Given the description of an element on the screen output the (x, y) to click on. 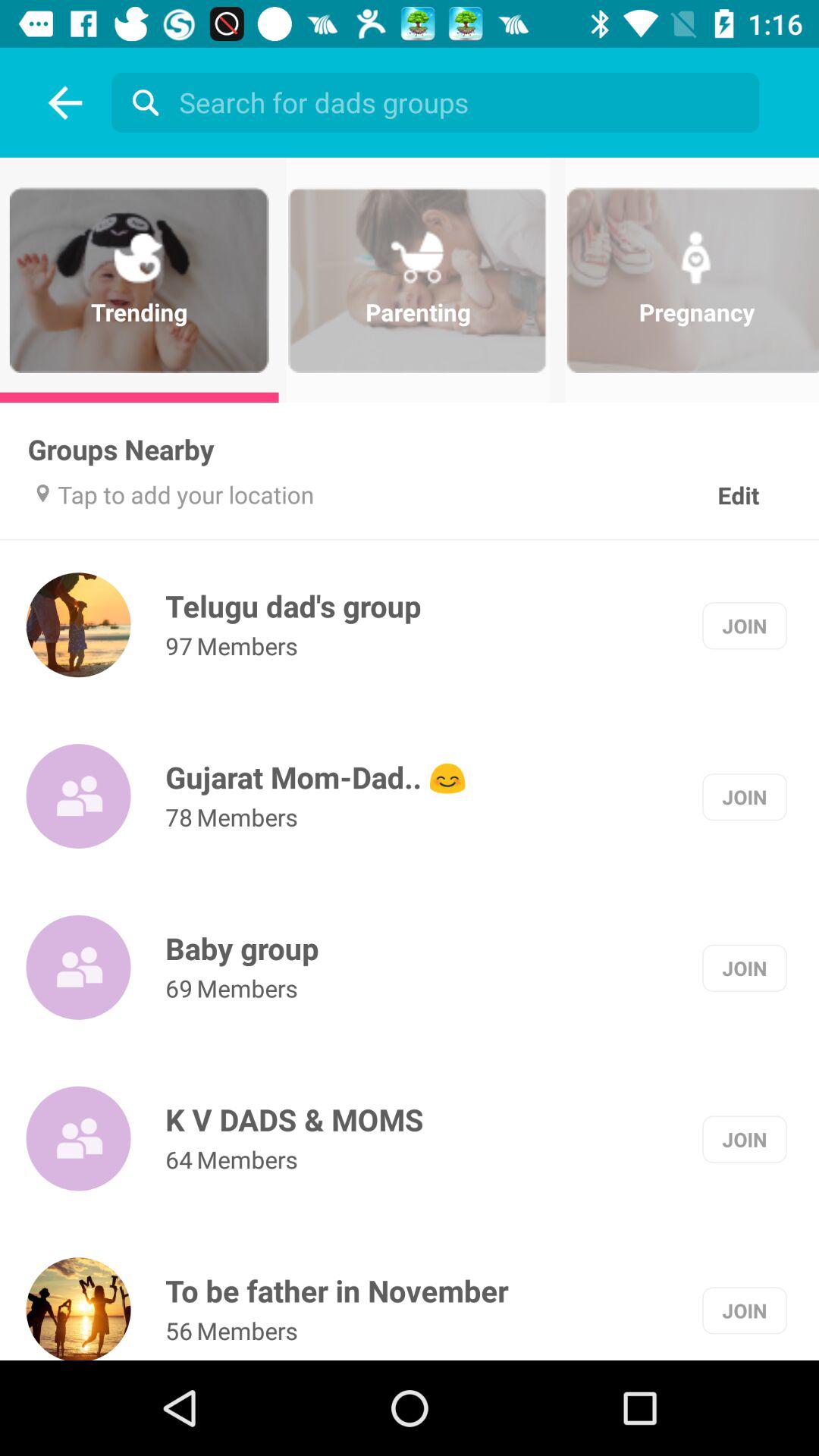
turn off item to the left of join item (294, 1119)
